Given the description of an element on the screen output the (x, y) to click on. 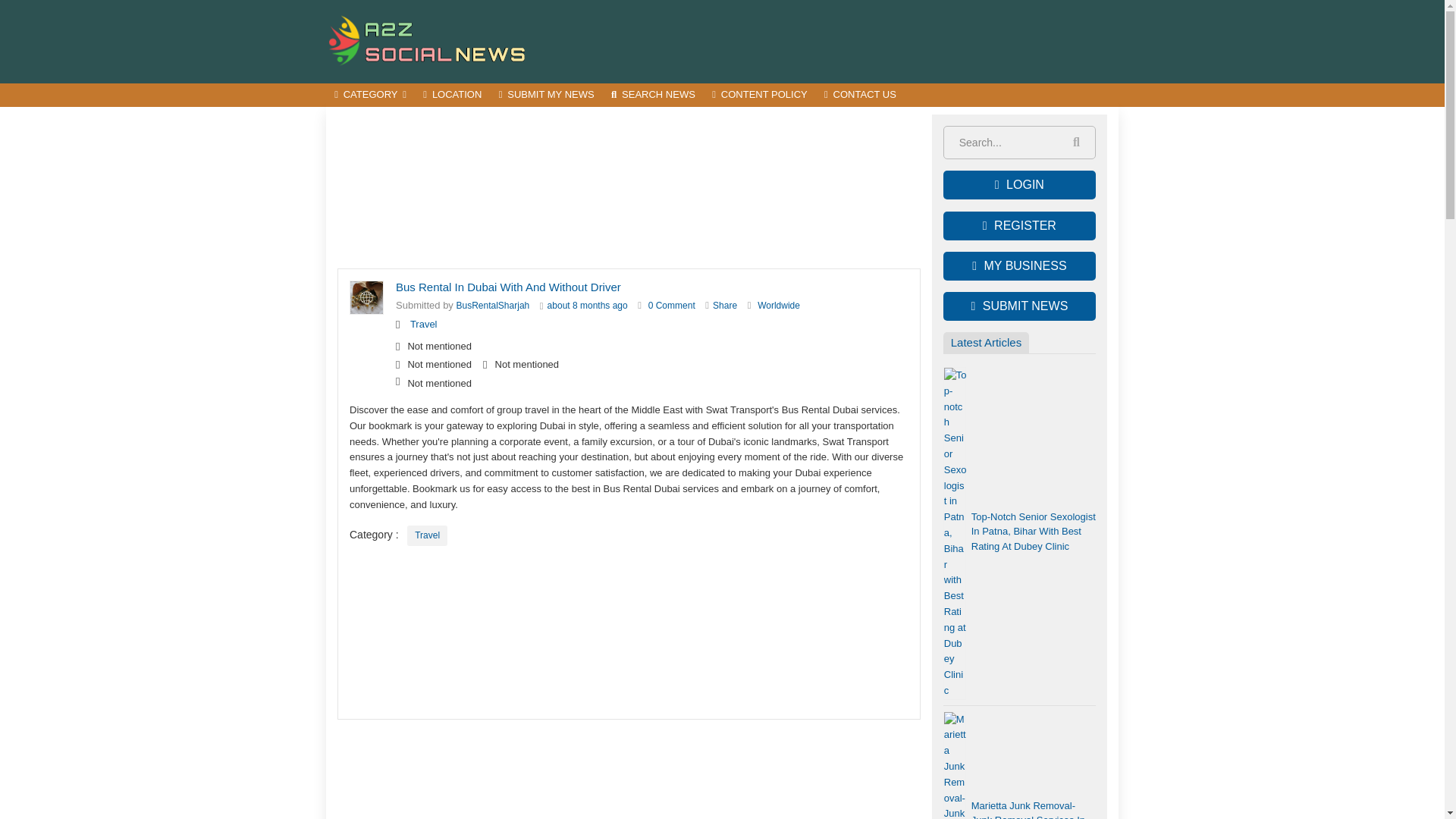
Travel (426, 535)
Register (1019, 225)
0 Comment (671, 305)
SUBMIT NEWS (1019, 306)
about 8 months ago (587, 305)
SEARCH NEWS (652, 95)
SUBMIT MY NEWS (546, 95)
CONTENT POLICY (759, 95)
Travel (424, 324)
REGISTER (1019, 225)
